Given the description of an element on the screen output the (x, y) to click on. 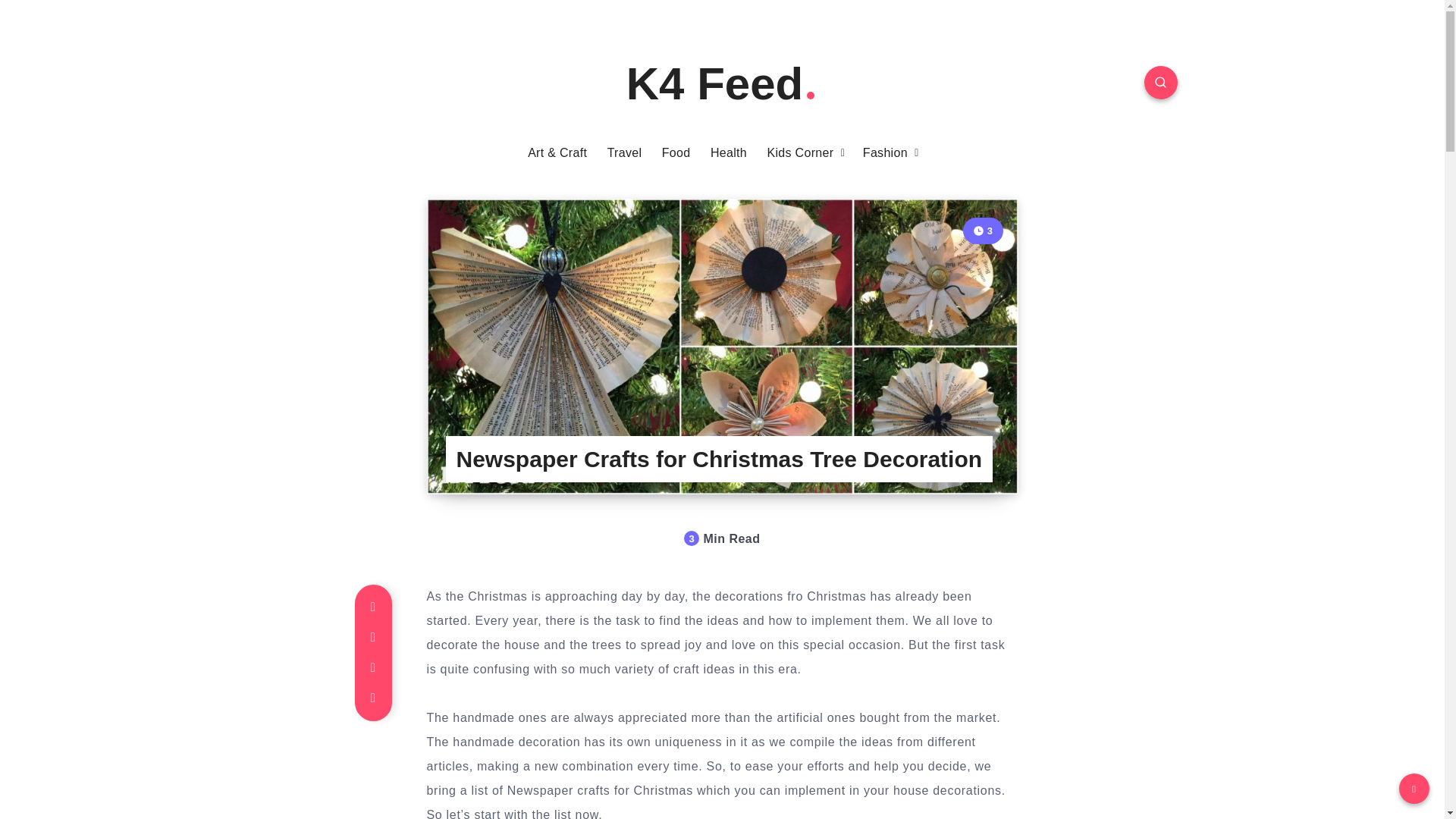
Health (728, 152)
Kids Corner (800, 152)
Food (676, 152)
K4 Feed (722, 83)
Fashion (885, 152)
3 Min Read (982, 230)
Travel (624, 152)
